Given the description of an element on the screen output the (x, y) to click on. 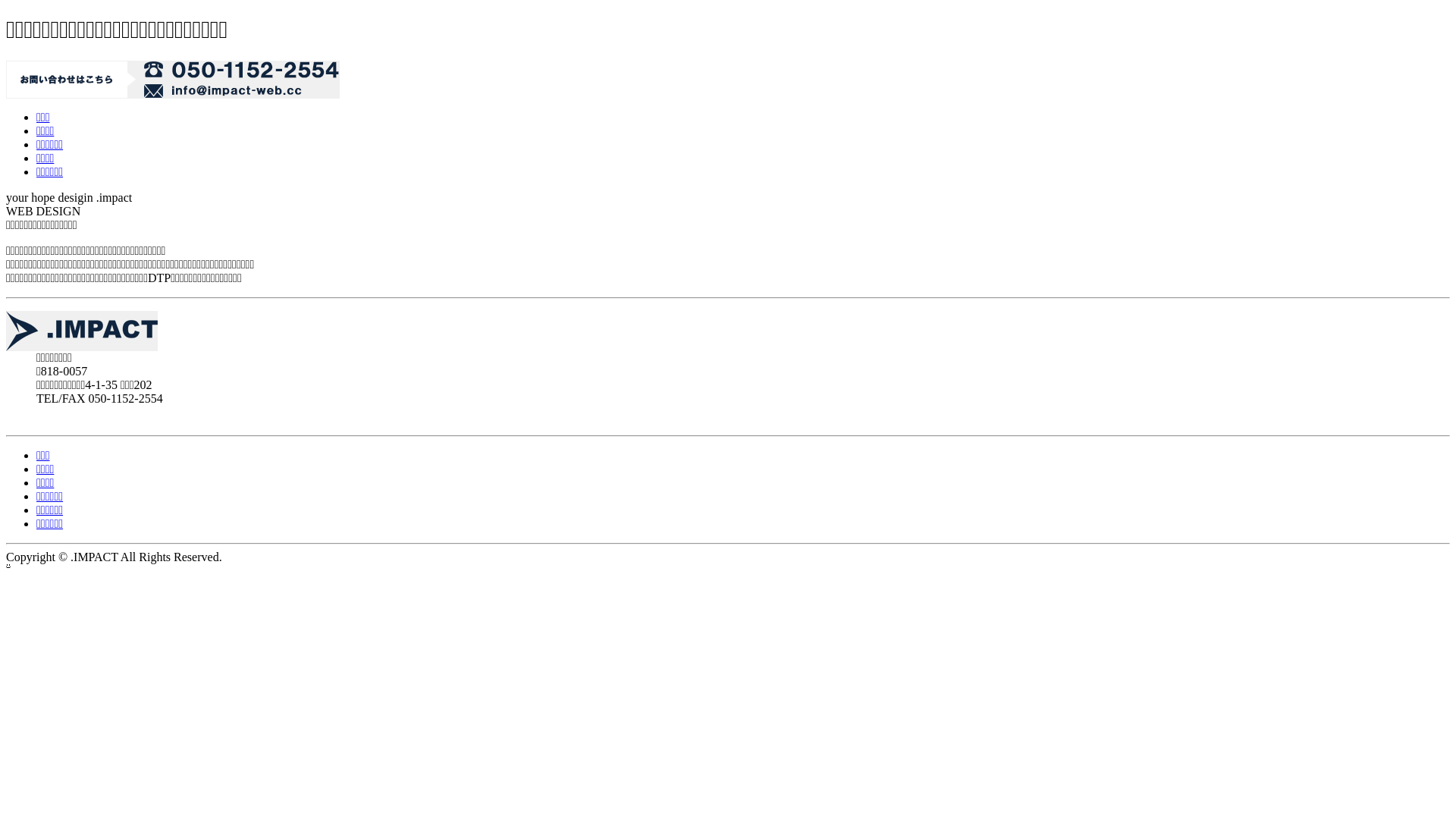
Advertisement Element type: hover (282, 423)
